Given the description of an element on the screen output the (x, y) to click on. 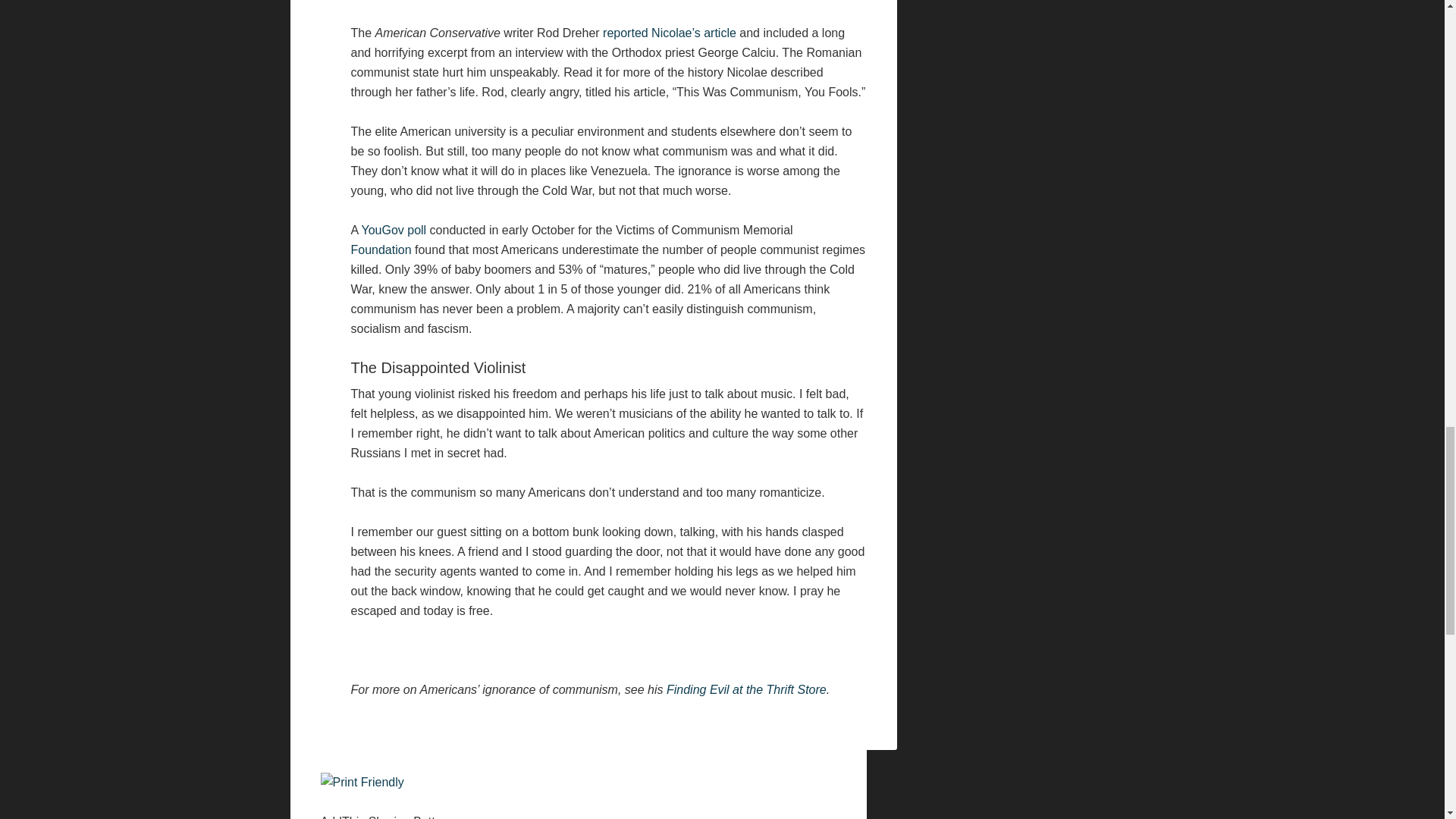
YouGov poll (393, 229)
Foundation (380, 249)
Finding Evil at the Thrift Store (746, 689)
